Given the description of an element on the screen output the (x, y) to click on. 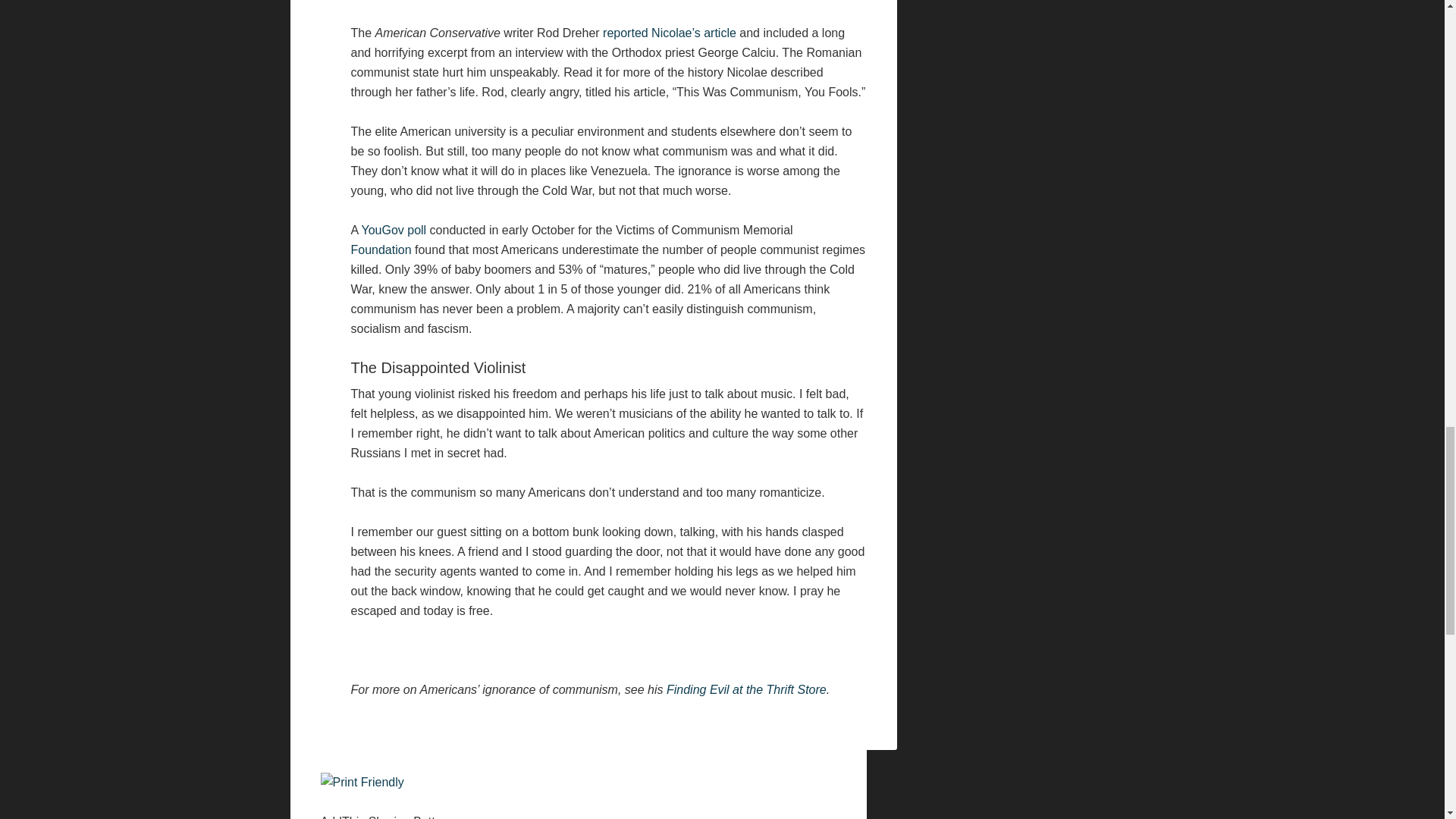
YouGov poll (393, 229)
Foundation (380, 249)
Finding Evil at the Thrift Store (746, 689)
